Given the description of an element on the screen output the (x, y) to click on. 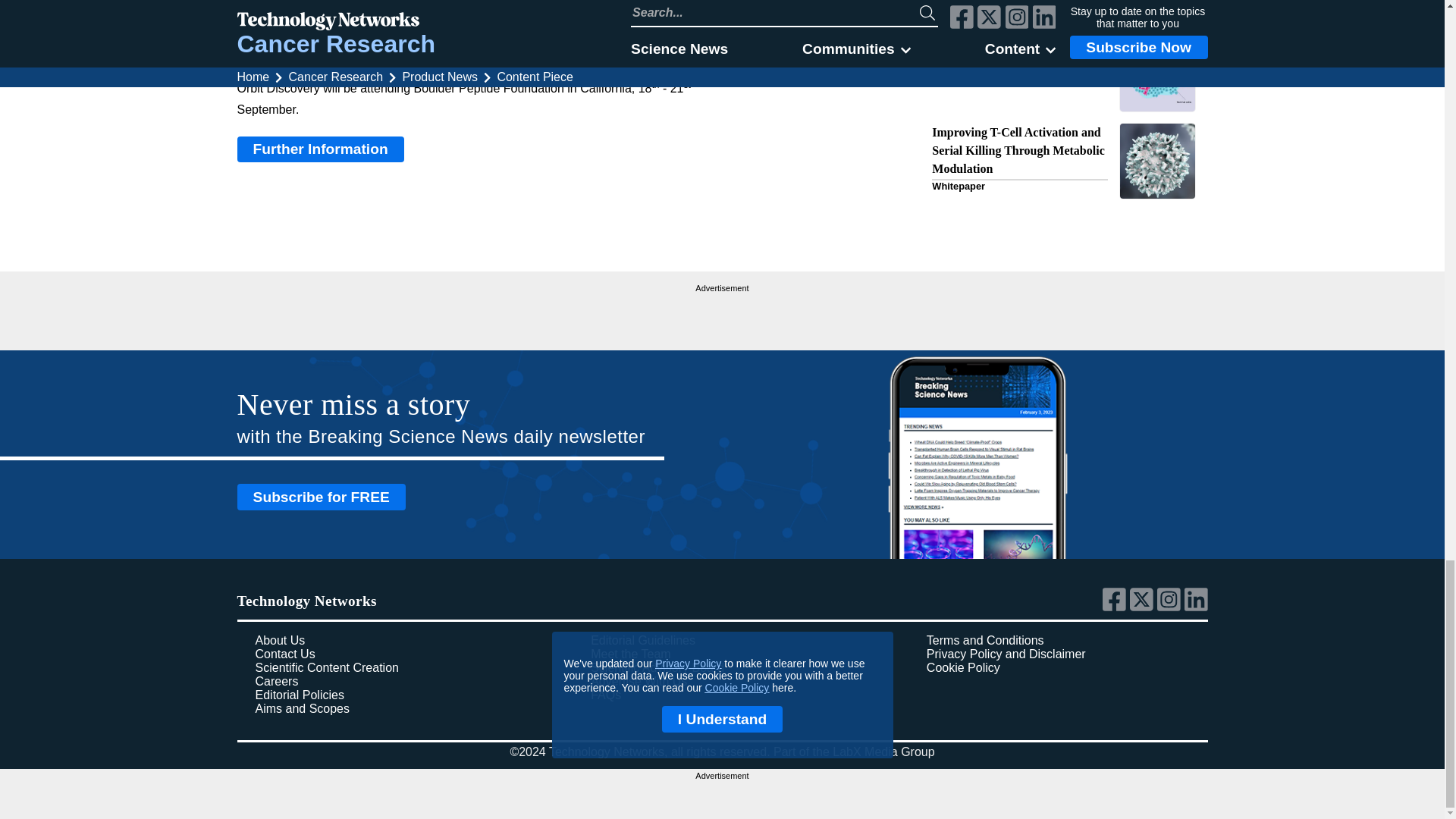
Link to Technology Networks' linkedin page (1196, 607)
Link to Technology Networks' instagram page (1171, 607)
Link to Technology Networks' twitter page (1143, 607)
Link to Technology Networks' facebook page (1115, 607)
3rd party ad content (721, 315)
